Given the description of an element on the screen output the (x, y) to click on. 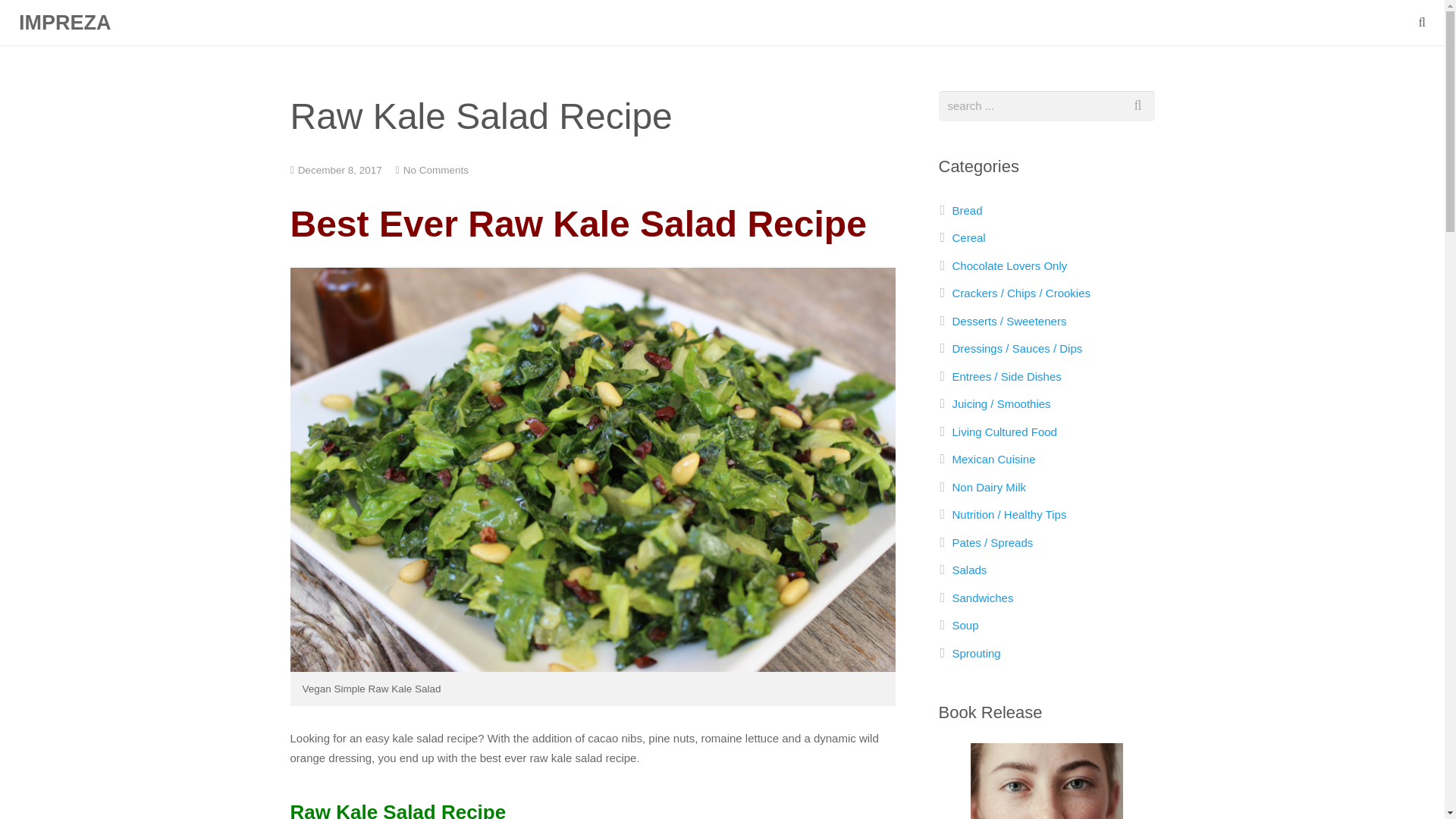
Living Cultured Food (1004, 431)
Chocolate Lovers Only (1009, 265)
Mexican Cuisine (993, 459)
Sprouting (976, 653)
IMPREZA (65, 22)
No Comments (435, 170)
Non Dairy Milk (989, 486)
Bread (967, 210)
Soup (965, 625)
Cereal (968, 237)
